Given the description of an element on the screen output the (x, y) to click on. 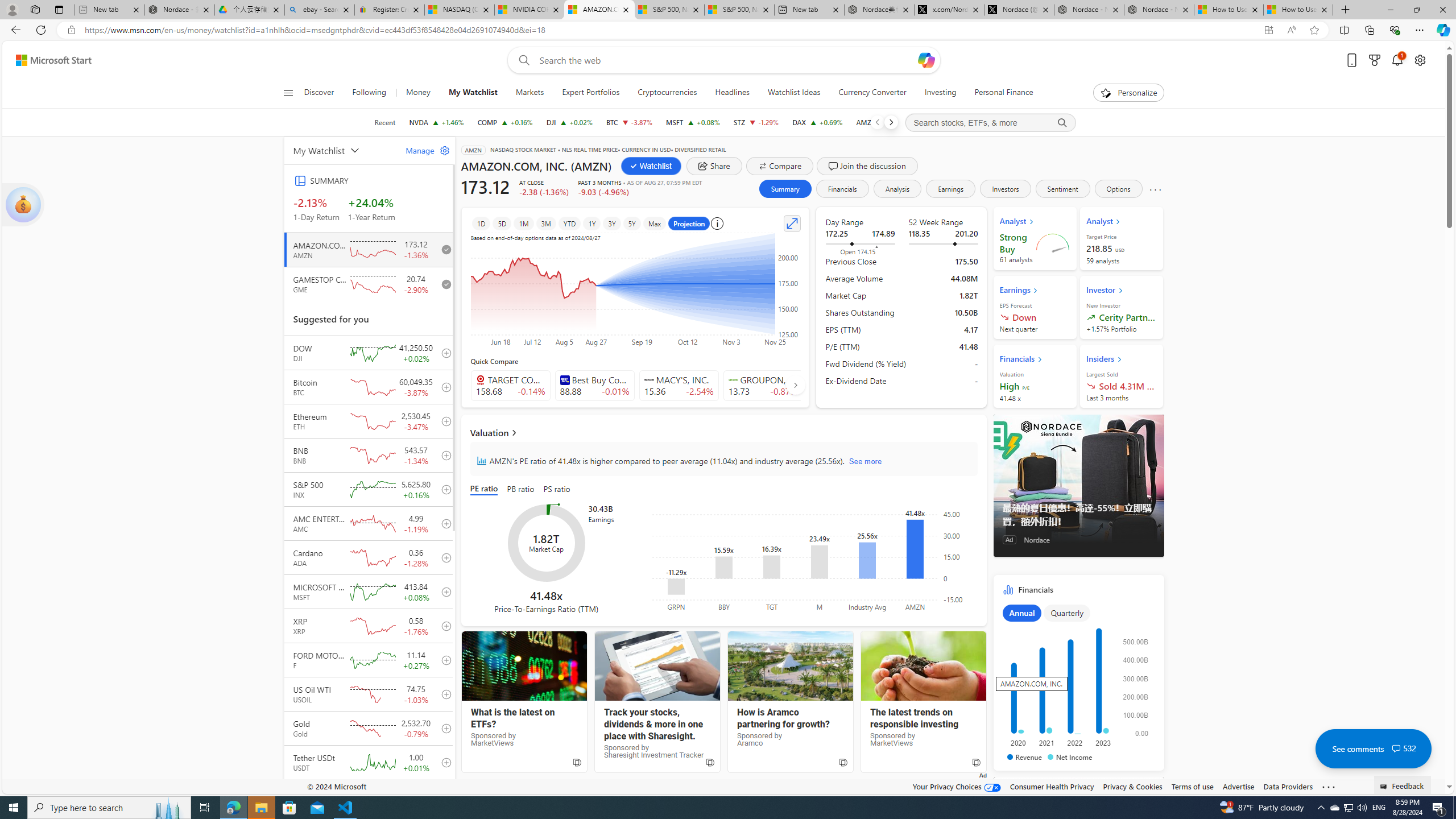
Class: chartOuter-DS-EntryPoint1-1 (1075, 682)
Discover (323, 92)
Projection (689, 223)
Privacy & Cookies (1131, 786)
Feedback (1402, 784)
Address and search bar (669, 29)
Enter your search term (726, 59)
Headlines (731, 92)
AutomationID: finance_carousel_navi_right (794, 384)
1M (523, 223)
Privacy & Cookies (1131, 785)
